Given the description of an element on the screen output the (x, y) to click on. 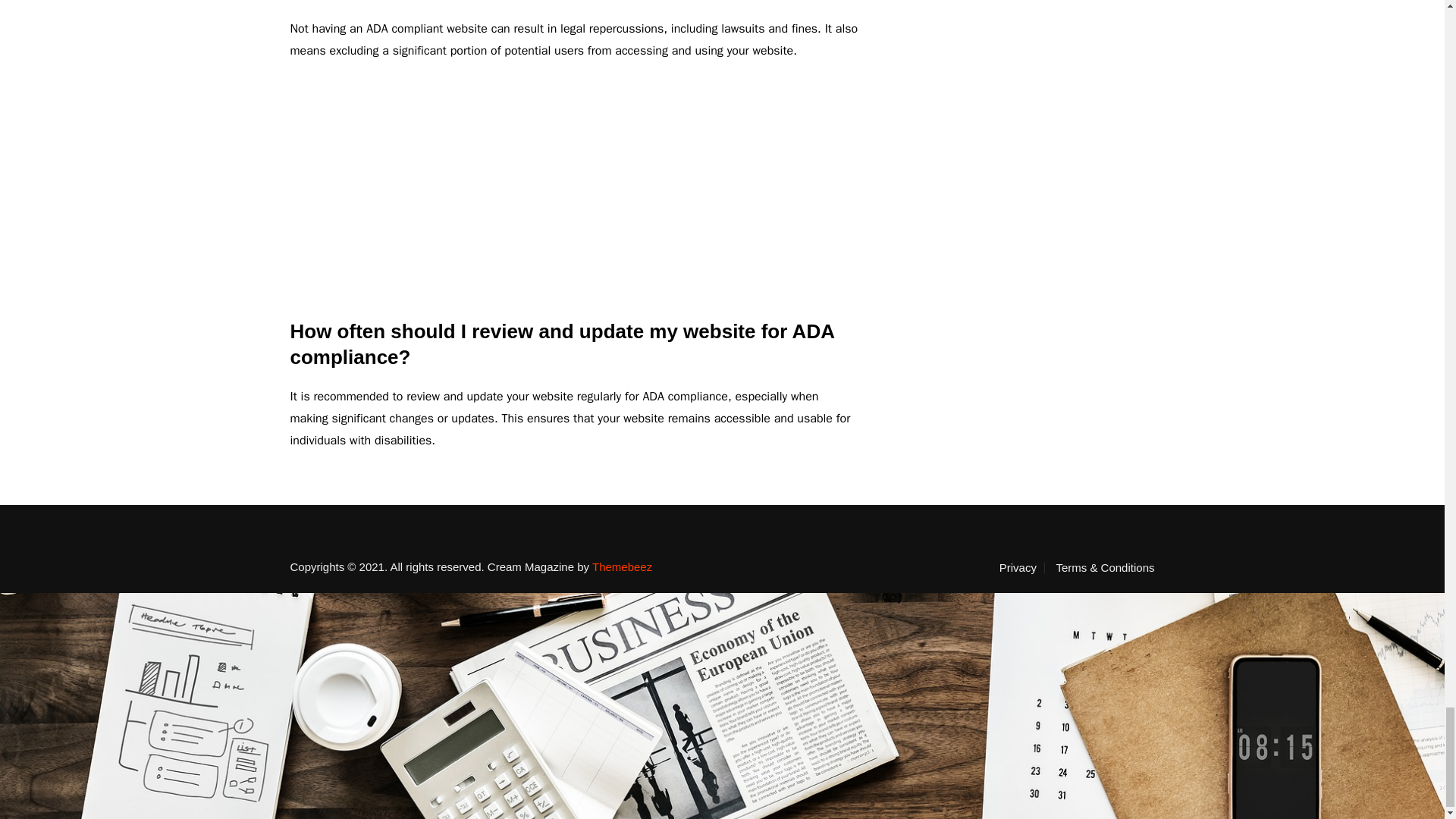
Themebeez (622, 566)
Privacy (1021, 567)
